Given the description of an element on the screen output the (x, y) to click on. 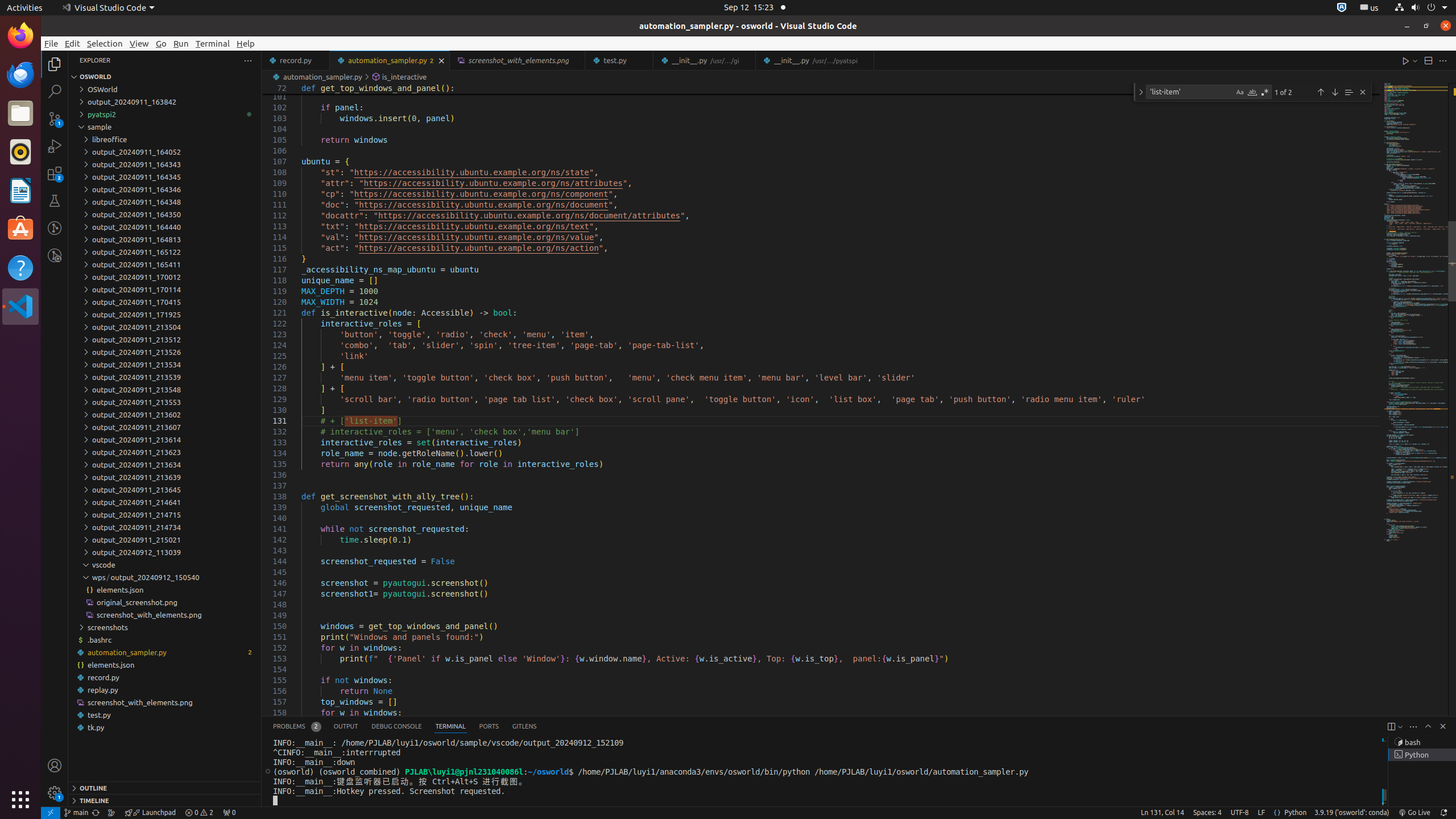
output_20240911_165411 Element type: tree-item (164, 264)
Run Python File Element type: push-button (1405, 60)
Search (Ctrl+Shift+F) Element type: page-tab (54, 91)
output_20240911_163842 Element type: tree-item (164, 101)
automation_sampler.py Element type: tree-item (164, 652)
